Given the description of an element on the screen output the (x, y) to click on. 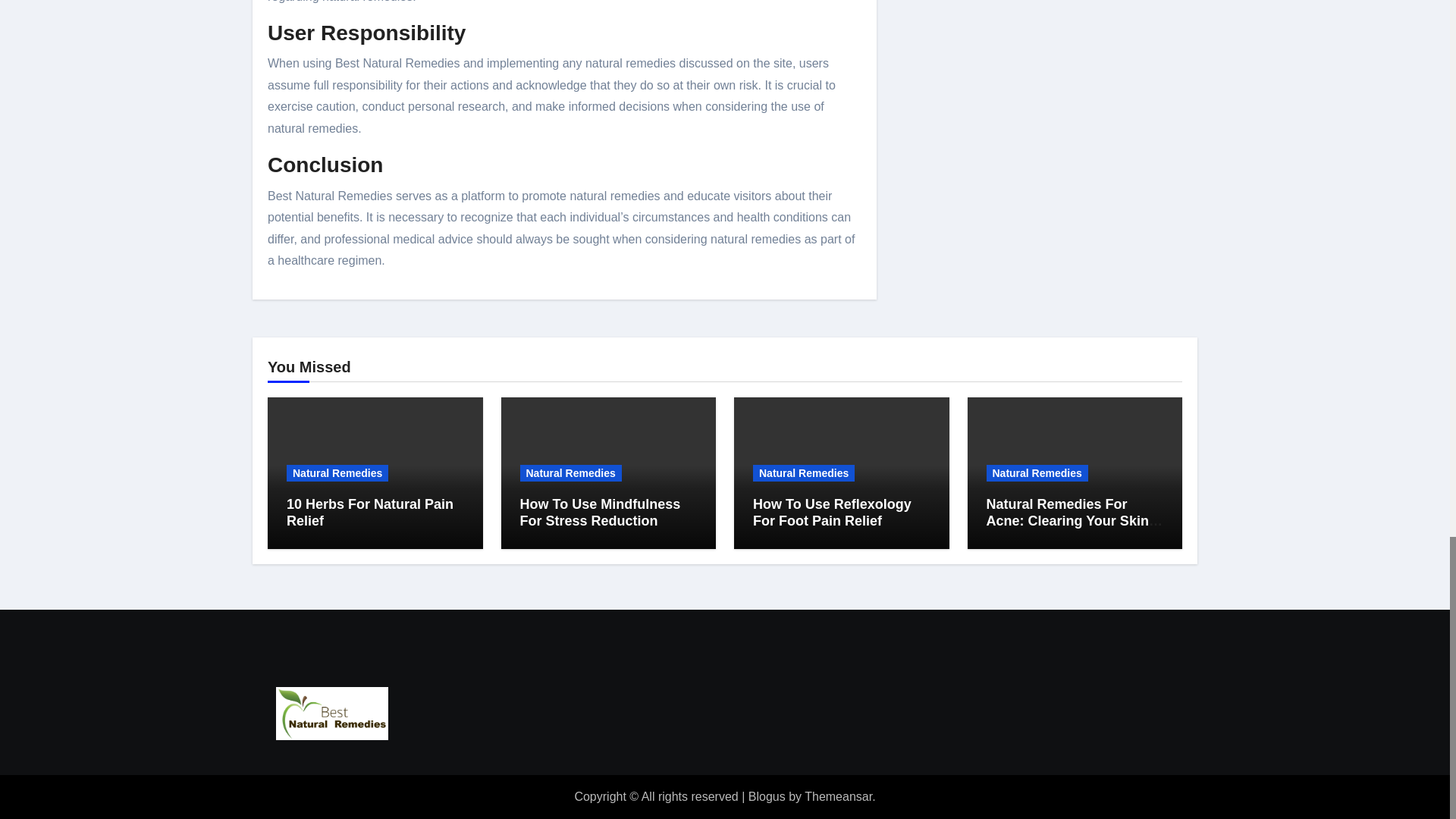
Permalink to: How To Use Mindfulness For Stress Reduction (600, 512)
Permalink to: How To Use Reflexology For Foot Pain Relief (831, 512)
Natural Remedies (570, 473)
How To Use Mindfulness For Stress Reduction (600, 512)
Natural Remedies (337, 473)
10 Herbs For Natural Pain Relief (369, 512)
Permalink to: 10 Herbs For Natural Pain Relief (369, 512)
Natural Remedies (803, 473)
